Given the description of an element on the screen output the (x, y) to click on. 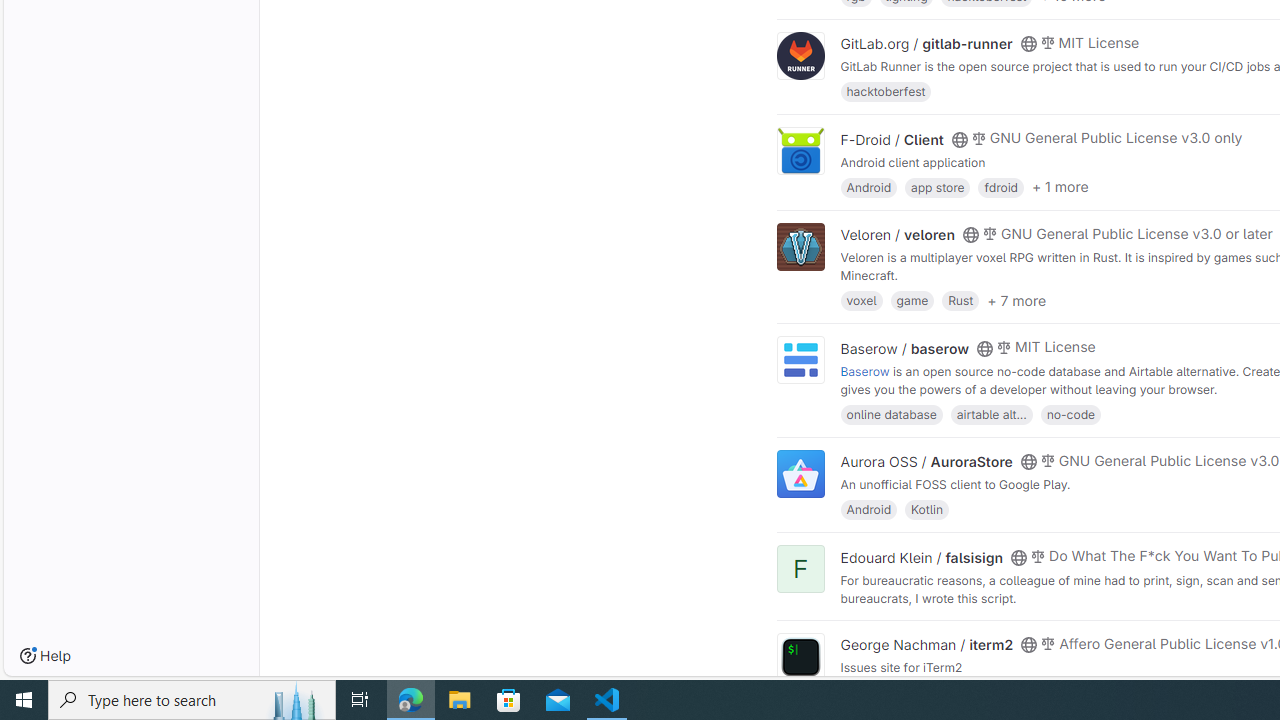
Rust (961, 300)
airtable alt... (990, 413)
F-Droid / Client (891, 139)
hacktoberfest (885, 91)
Edouard Klein / falsisign (921, 556)
George Nachman / iterm2 (926, 644)
Baserow (864, 370)
F (800, 569)
game (912, 300)
Baserow / baserow (904, 348)
Kotlin (927, 508)
fdroid (1000, 186)
app store (938, 186)
+ 1 more (1059, 187)
Android (868, 508)
